Given the description of an element on the screen output the (x, y) to click on. 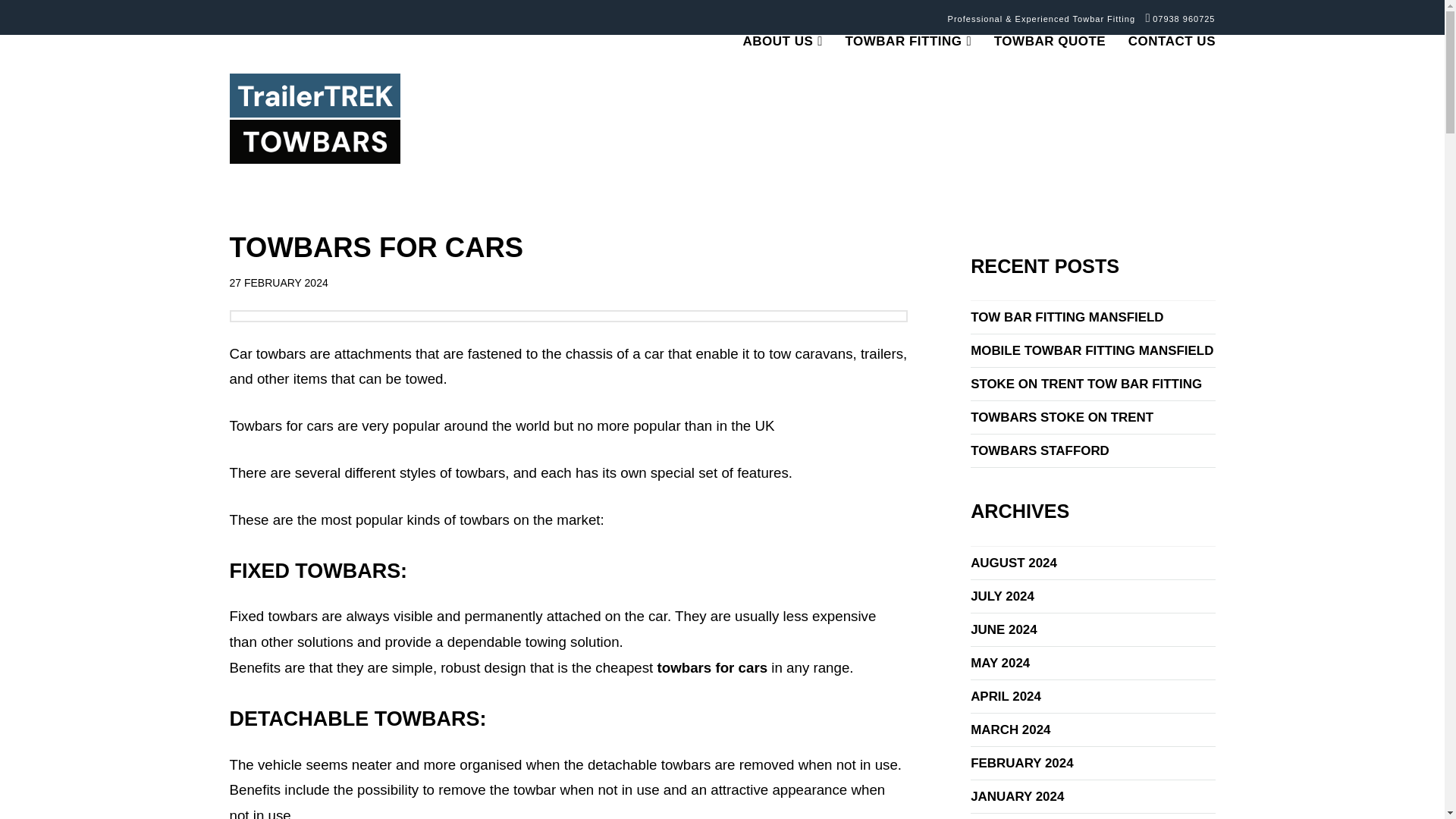
TOWBAR QUOTE (1049, 106)
TOWBAR FITTING (906, 106)
07938 960725 (1182, 18)
